Given the description of an element on the screen output the (x, y) to click on. 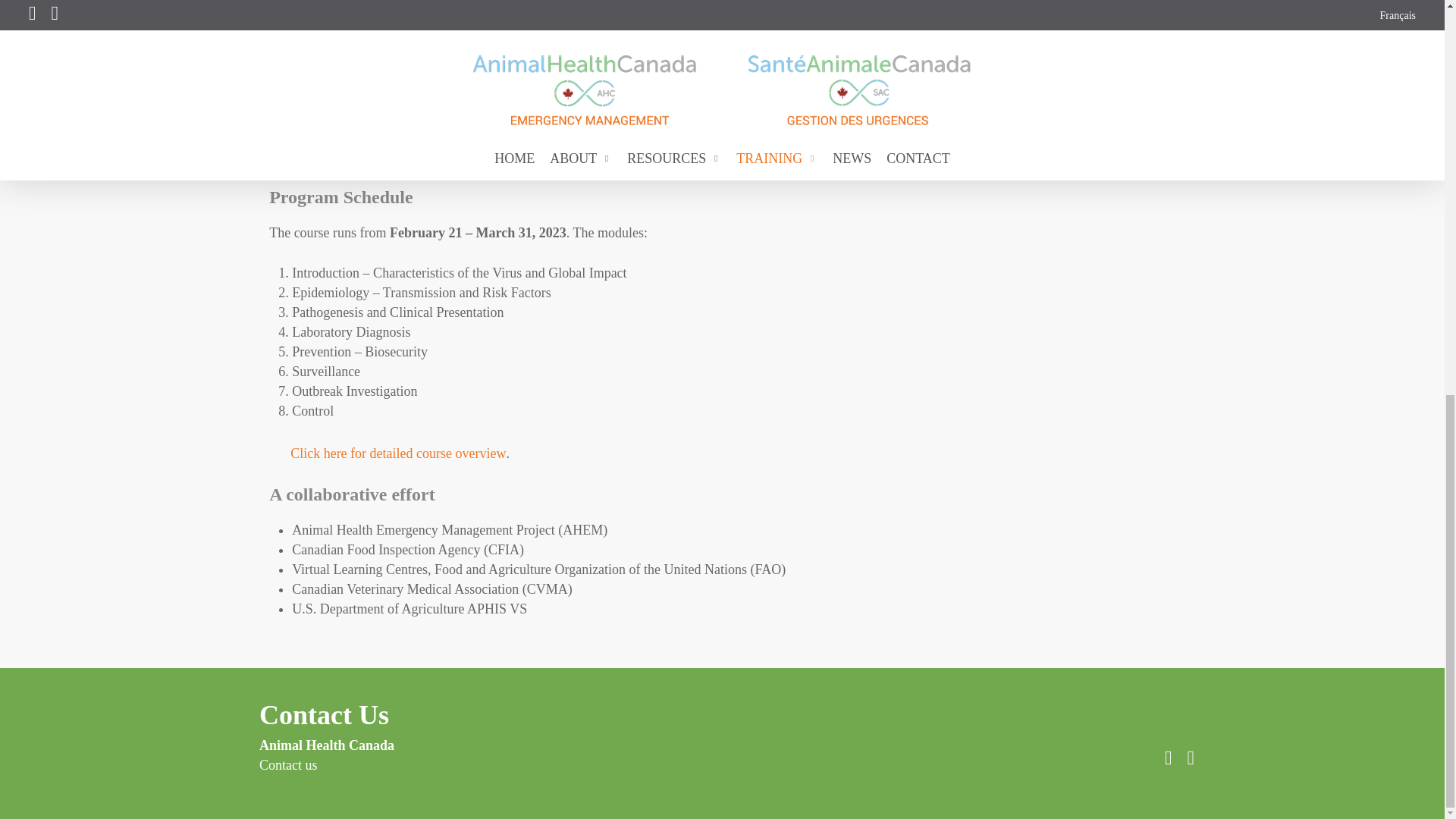
Click here for detailed course overview (387, 453)
Contact us (288, 765)
